Given the description of an element on the screen output the (x, y) to click on. 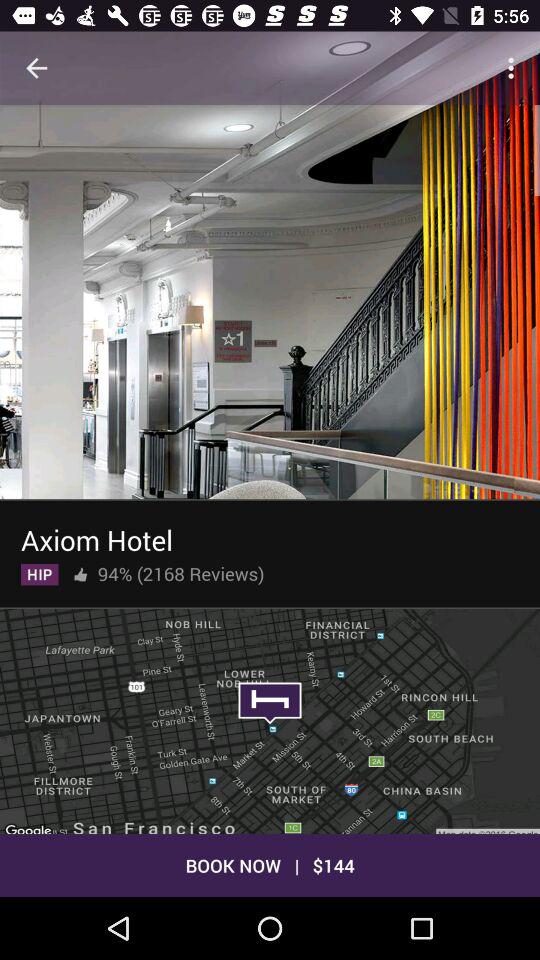
tap the item below axiom hotel icon (80, 570)
